Given the description of an element on the screen output the (x, y) to click on. 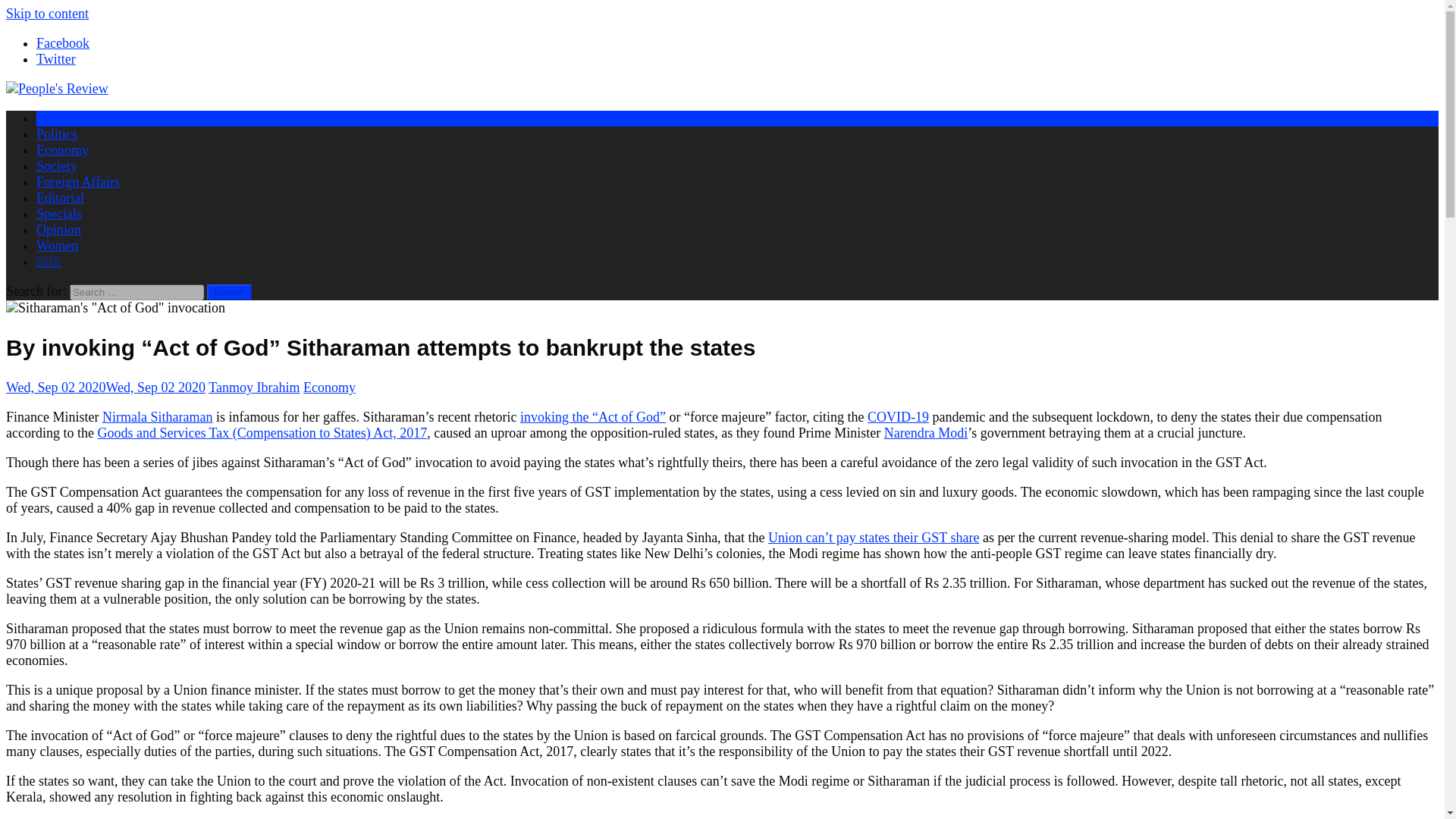
Skip to content (46, 13)
Economy (62, 150)
Politics (56, 133)
Editorial (60, 197)
Foreign Affairs (77, 181)
Economy (328, 387)
Donate and Support (90, 118)
Opinion (58, 229)
Nirmala Sitharaman (156, 417)
People's Review (56, 88)
Society (56, 165)
Wed, Sep 02 2020Wed, Sep 02 2020 (105, 387)
Search (228, 292)
Search (228, 292)
Tanmoy Ibrahim (253, 387)
